Given the description of an element on the screen output the (x, y) to click on. 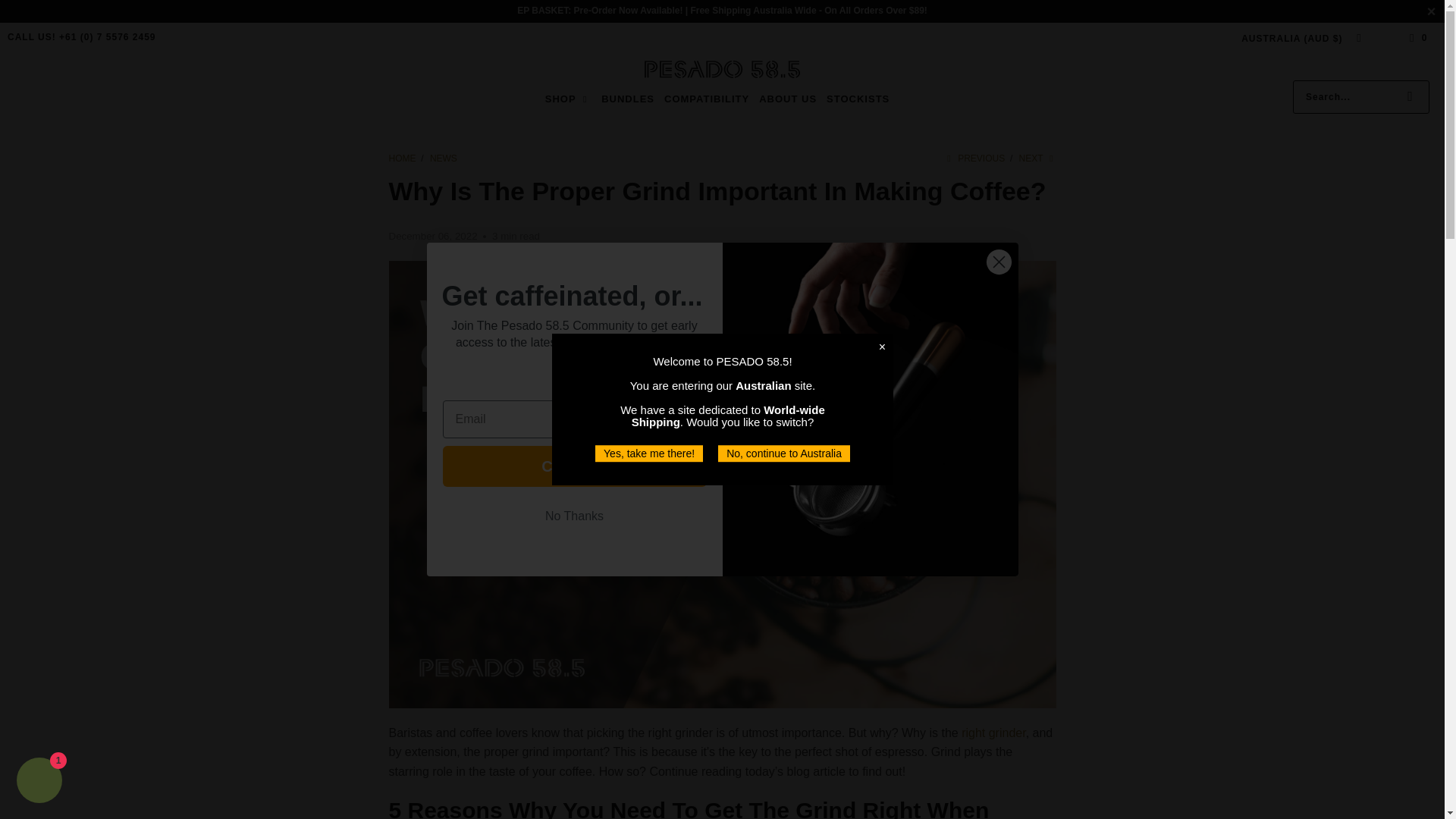
No, continue to Australia (783, 453)
Pesado (722, 70)
Yes, take me there! (649, 453)
Pesado (402, 158)
News (443, 158)
